Given the description of an element on the screen output the (x, y) to click on. 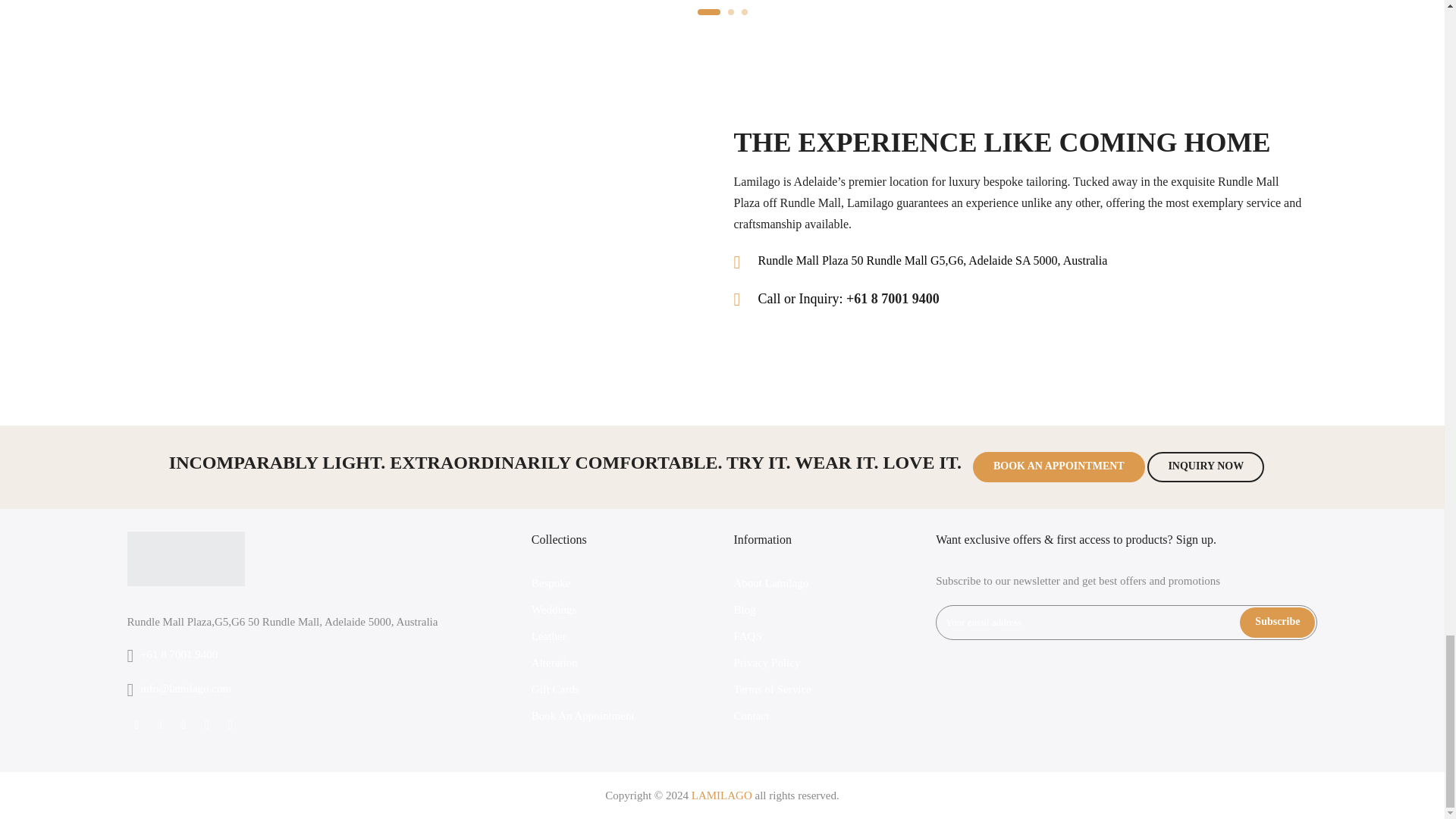
Bespoke (550, 582)
Leather (548, 635)
INQUIRY NOW (1205, 467)
BOOK AN APPOINTMENT (1058, 467)
Weddings (553, 609)
